Given the description of an element on the screen output the (x, y) to click on. 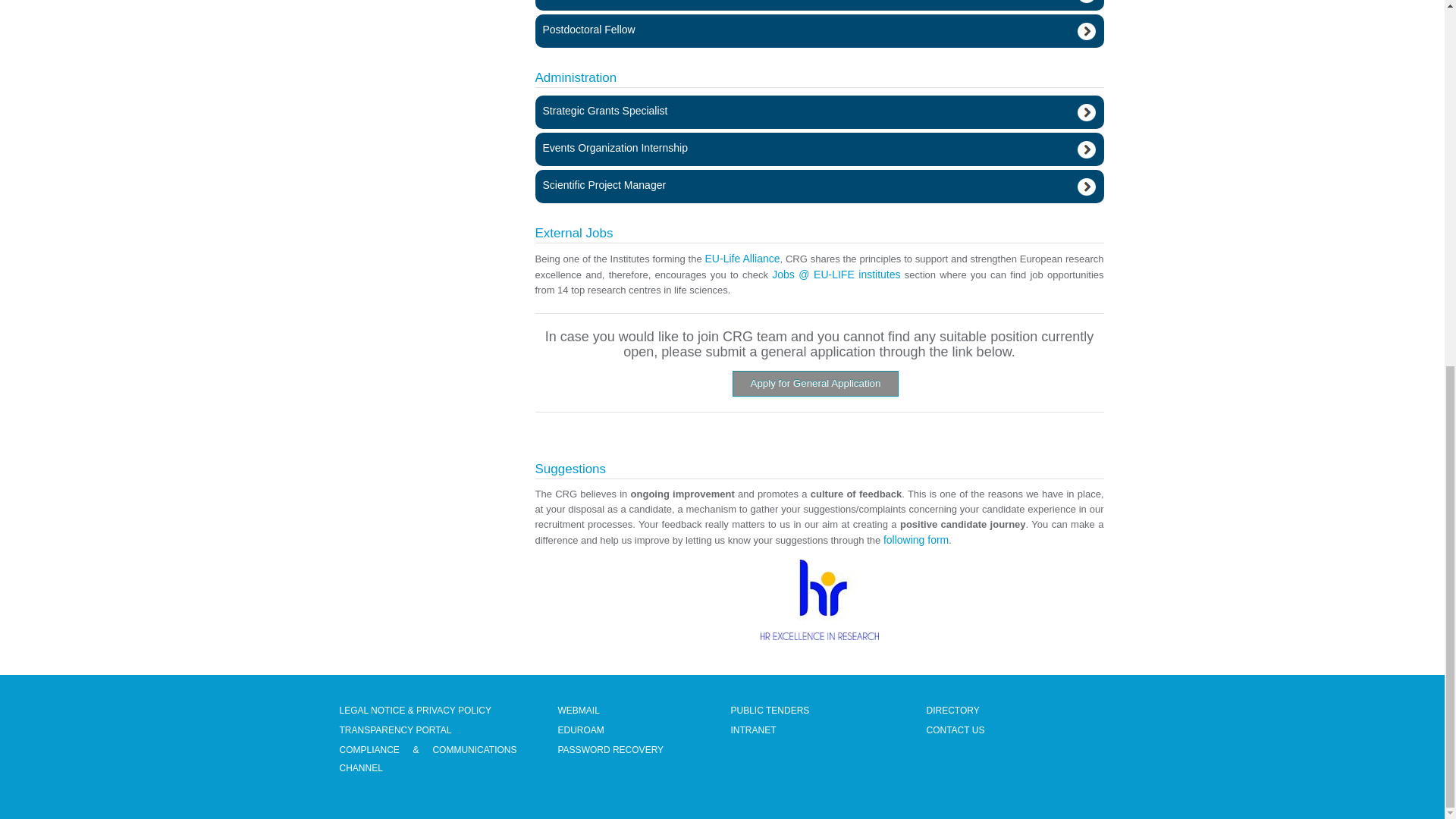
Apply for General Application (815, 383)
